Given the description of an element on the screen output the (x, y) to click on. 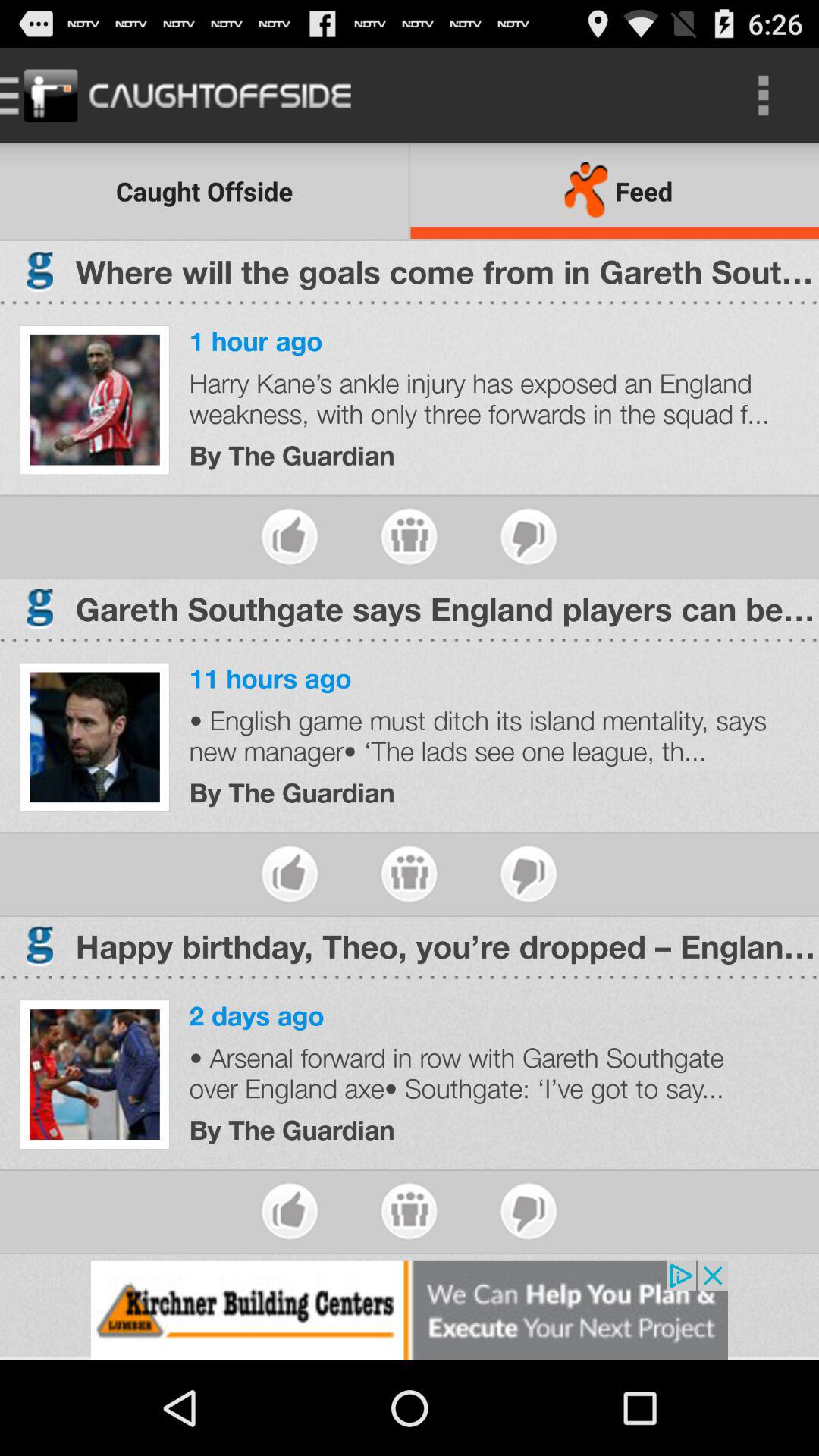
thumbs down on gareth article (528, 873)
